Given the description of an element on the screen output the (x, y) to click on. 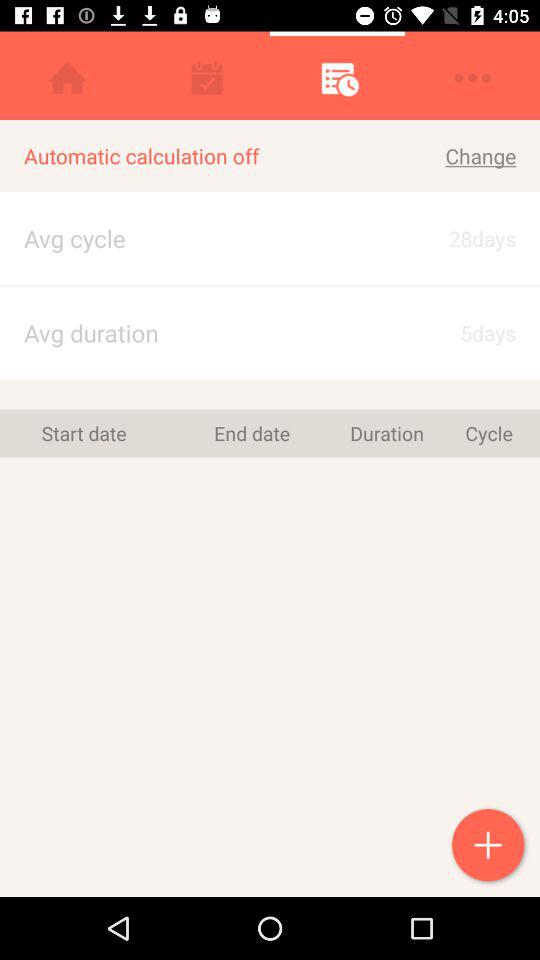
launch icon below the change (463, 238)
